Given the description of an element on the screen output the (x, y) to click on. 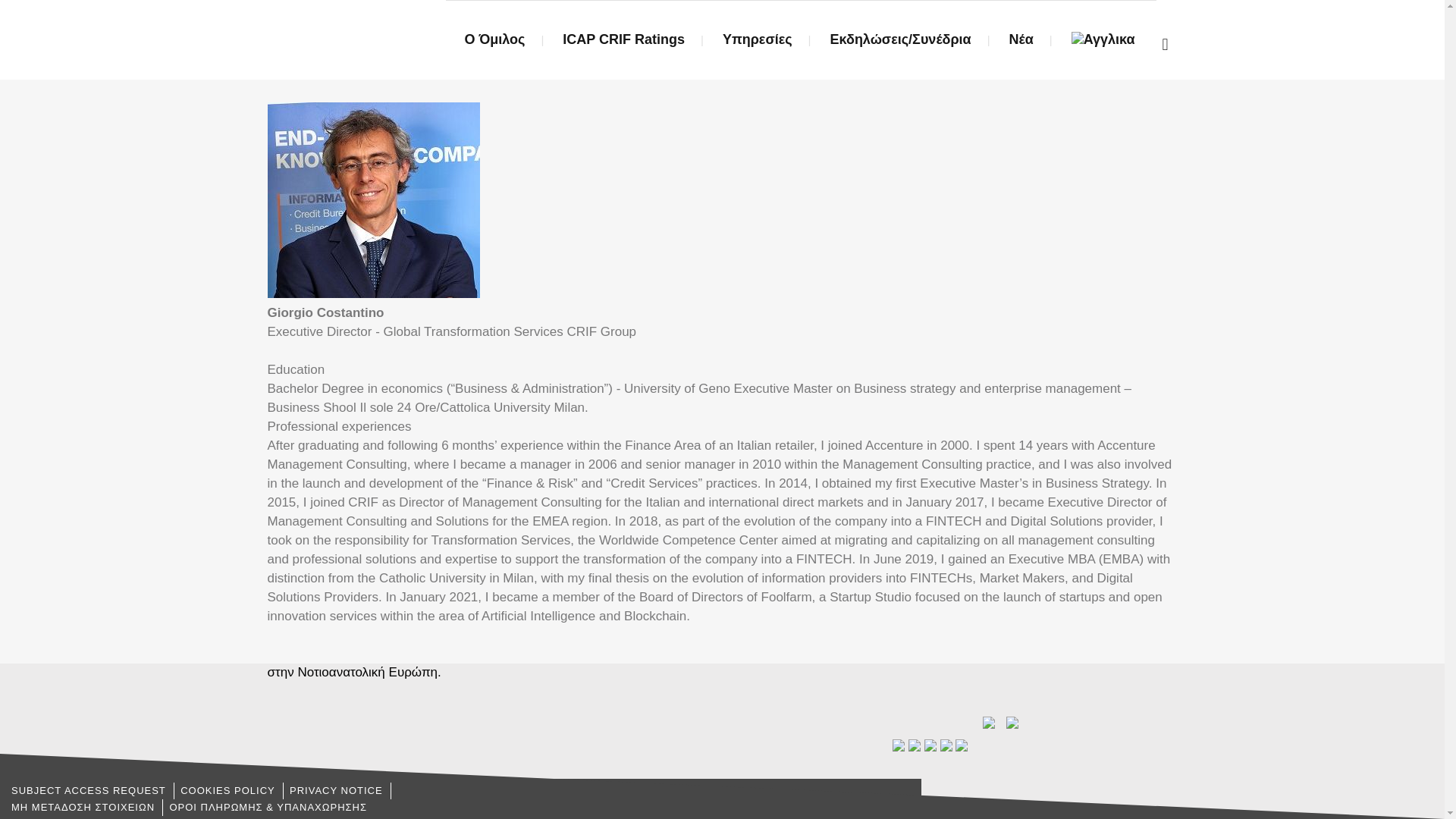
ICAP CRIF Ratings (622, 39)
